Given the description of an element on the screen output the (x, y) to click on. 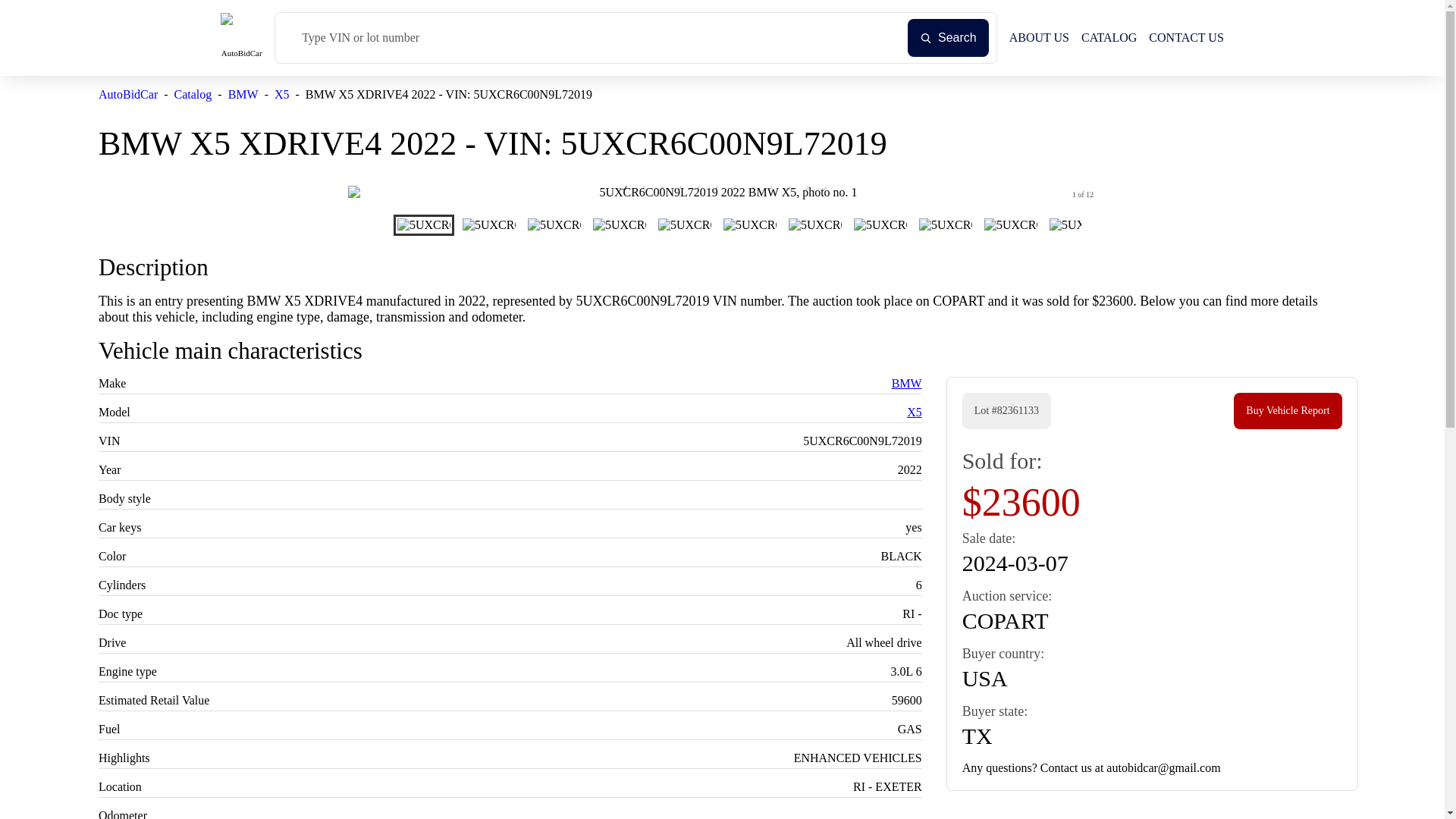
X5 (282, 93)
Buy Vehicle Report (1286, 411)
CATALOG (1109, 38)
AutoBidCar (128, 93)
BMW (906, 382)
ABOUT US (1038, 38)
Catalog (193, 93)
Search (947, 37)
X5 (914, 411)
BMW (243, 93)
